Given the description of an element on the screen output the (x, y) to click on. 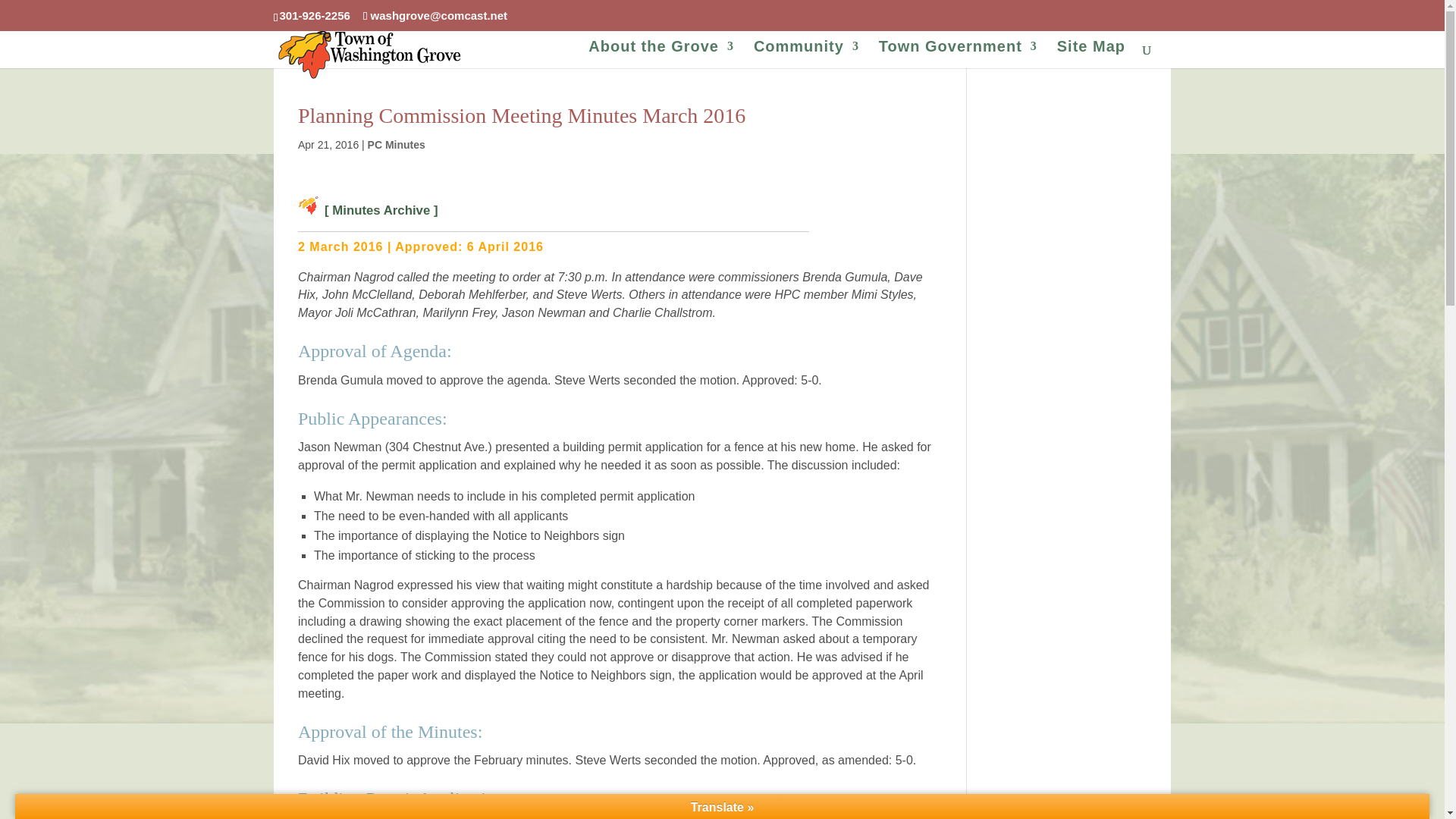
Community (806, 56)
Government (957, 56)
About the Grove (660, 56)
